Given the description of an element on the screen output the (x, y) to click on. 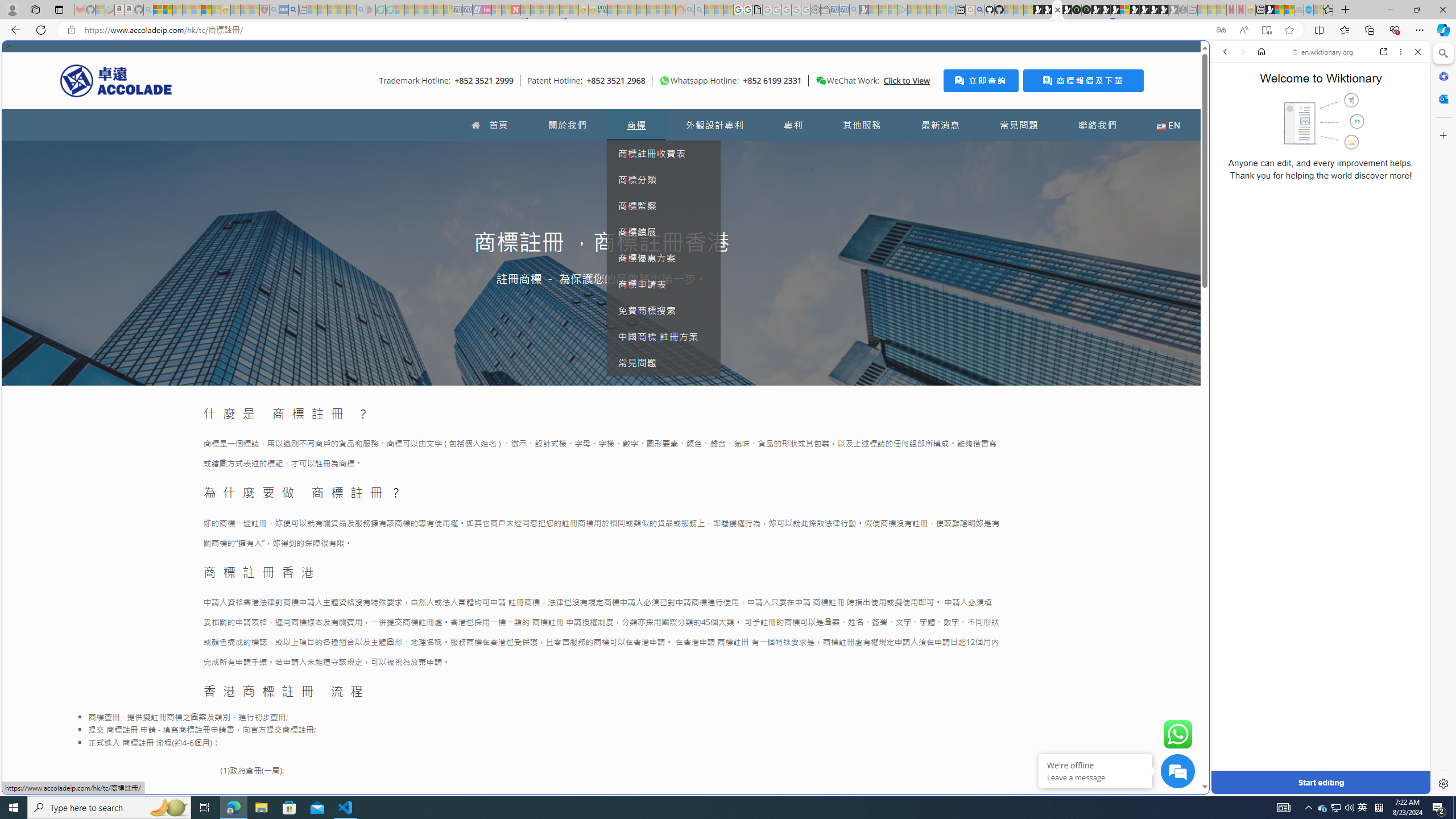
VIDEOS (1300, 130)
Search the web (1326, 78)
MSNBC - MSN - Sleeping (611, 9)
